Given the description of an element on the screen output the (x, y) to click on. 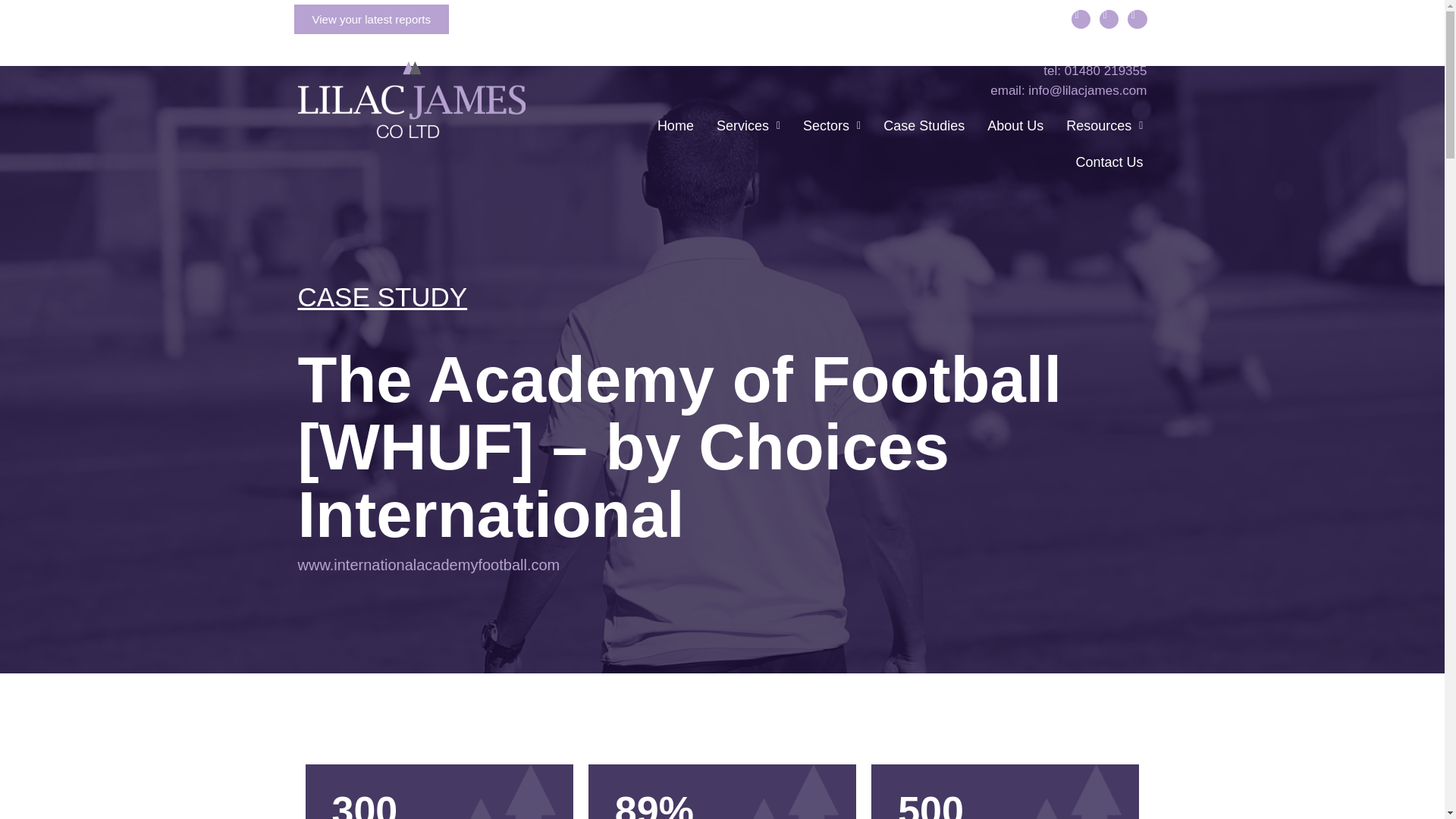
Case Studies (923, 125)
About Us (1014, 125)
Services (748, 125)
Home (675, 125)
View your latest reports (371, 19)
Sectors (832, 125)
Resources (1104, 125)
tel: 01480 219355 (851, 71)
